Given the description of an element on the screen output the (x, y) to click on. 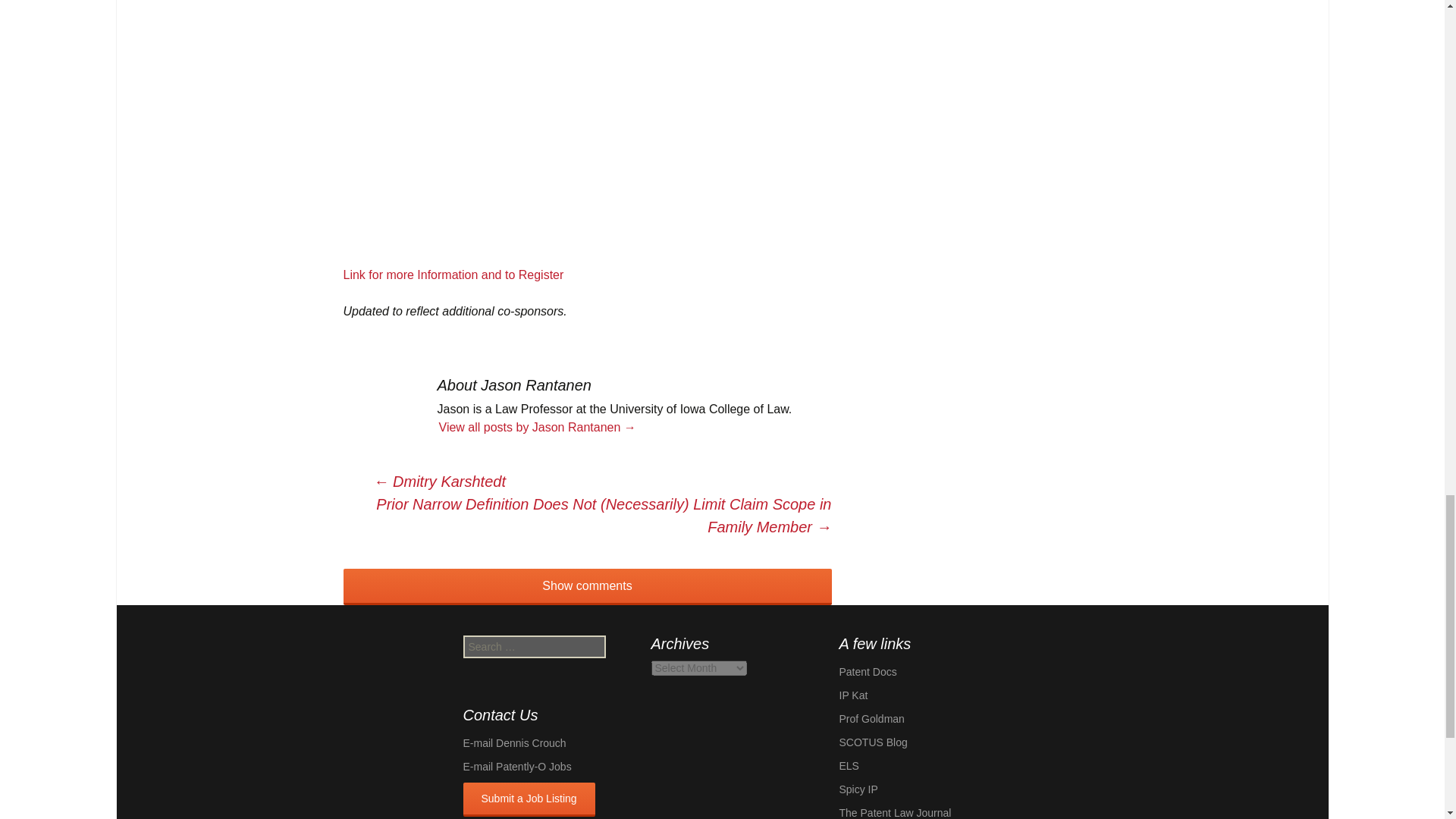
Link for more Information and to Register (452, 274)
